Given the description of an element on the screen output the (x, y) to click on. 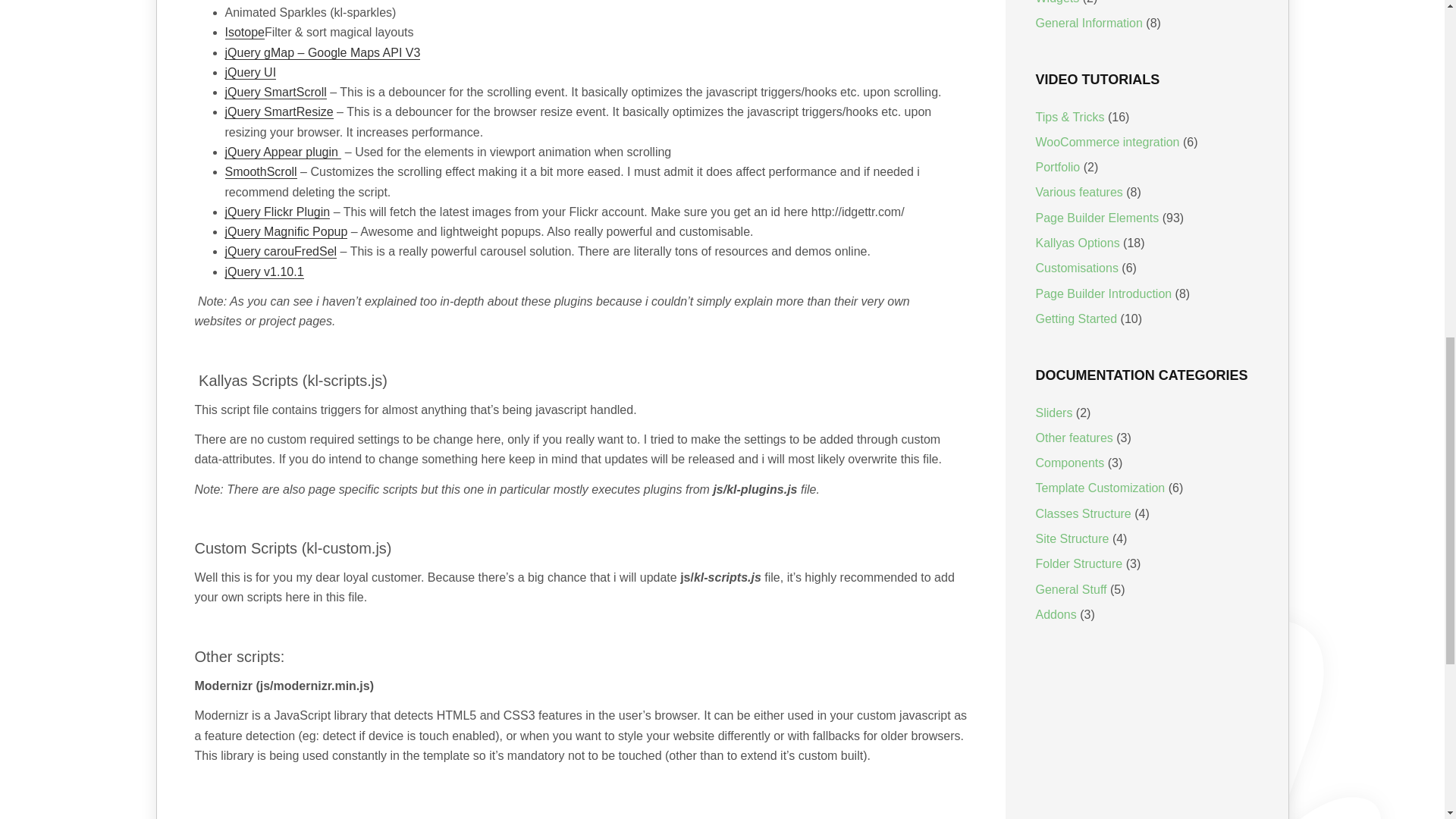
Various features in Kallyas WordPress theme (1078, 192)
jQuery Magnific Popup (285, 232)
jQuery Flickr Plugin (277, 212)
Customisations in Kallyas WordPress theme (1076, 267)
Page Builder Elements in Kallyas WordPress theme (1096, 217)
SmoothScroll (260, 172)
jQuery UI (250, 72)
jQuery SmartScroll (275, 92)
Isotope (243, 32)
WooCommerce integration in Kallyas WordPress theme (1107, 141)
jQuery SmartResize (278, 111)
Getting started with Kallyas WordPress theme (1076, 318)
Portfolio in Kallyas WordPress theme (1057, 166)
jQuery v1.10.1 (263, 272)
jQuery carouFredSel (280, 251)
